Given the description of an element on the screen output the (x, y) to click on. 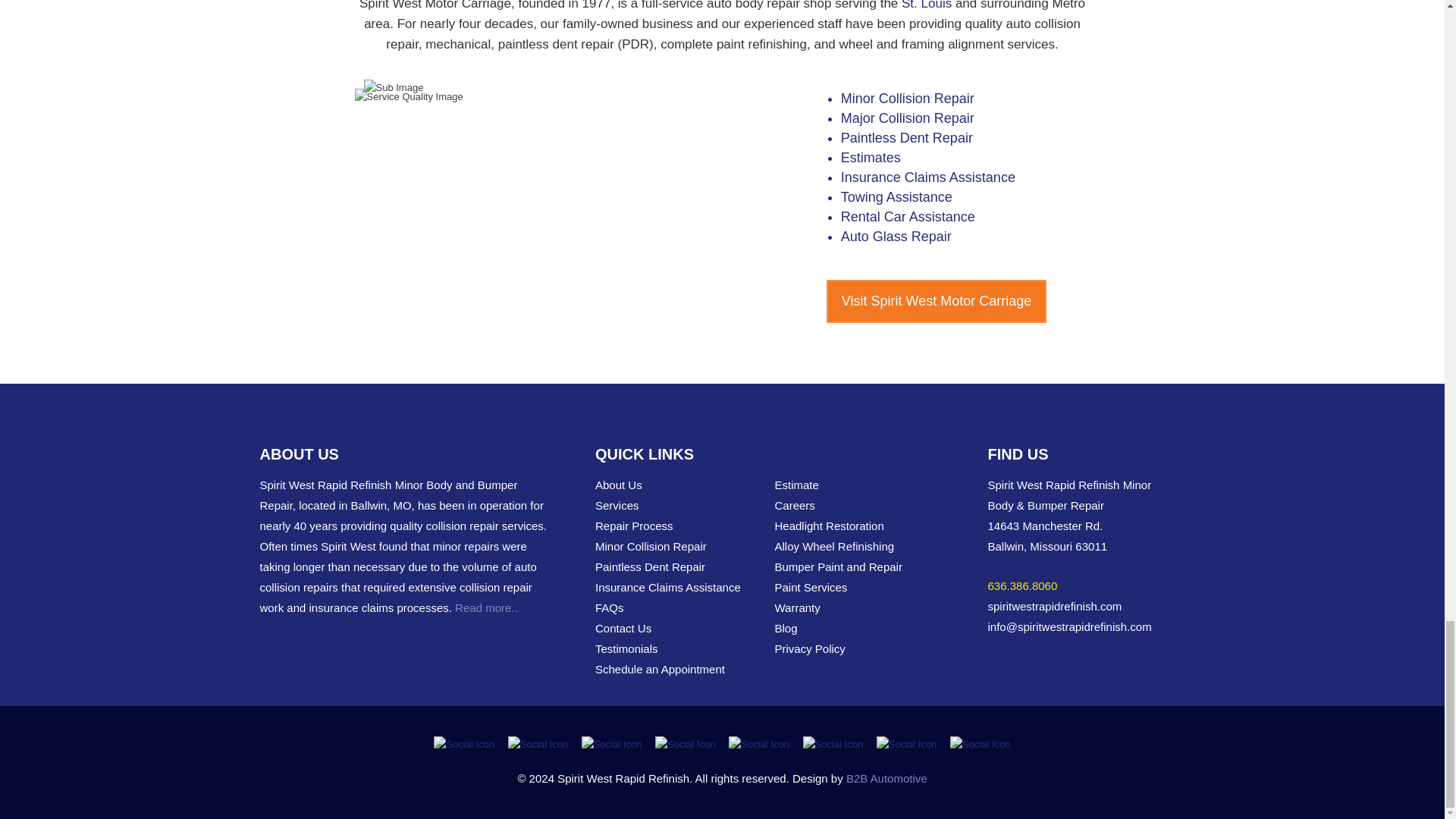
Paintless Dent Repair Service (906, 137)
Auto Glass Repair Service (896, 236)
Spirit West Rapid Refinish Map (1086, 535)
Minor Collision Repair Services (907, 98)
Auto Body Repair Insurance Claims Assistance (927, 177)
About Spirit West Rapid Refinish (486, 607)
Auto Body Repair near St. Louis (926, 5)
Major Collision Repair Services (907, 118)
Spirit West Rapid Refinish (1086, 606)
Towing Assistance (896, 196)
